Given the description of an element on the screen output the (x, y) to click on. 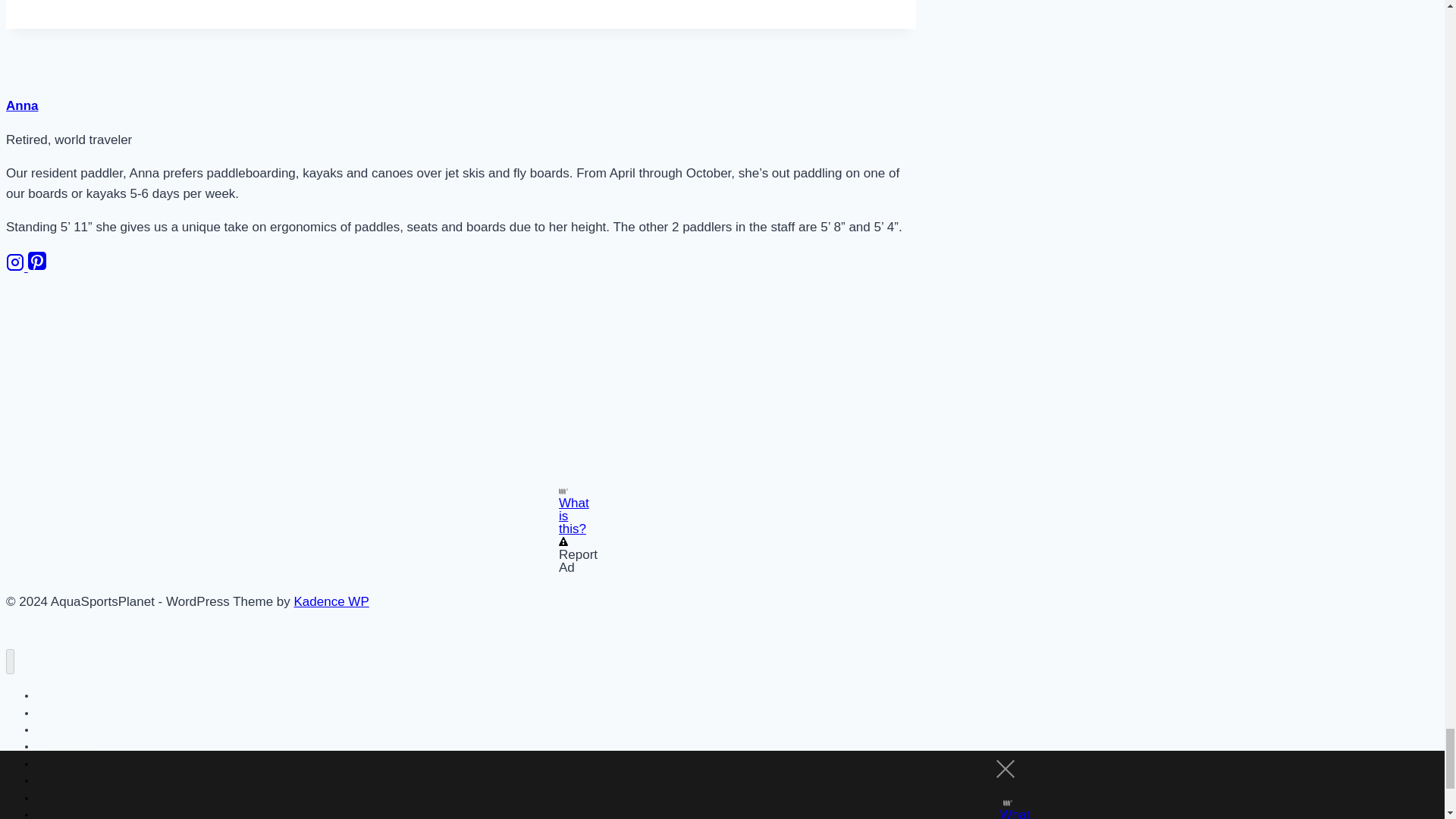
Scuba (51, 695)
Kadence WP (331, 601)
Wakeboard (63, 808)
Pinterest (36, 267)
Snowmobile (65, 763)
Paddleboard (66, 729)
Jet ski (51, 746)
Instagram (14, 262)
Snowboard (63, 780)
Posts by Anna (22, 105)
3rd party ad content (461, 389)
Kitesurf (53, 816)
Flyboard (56, 797)
Pinterest (36, 260)
Follow Anna on Instagram (16, 267)
